Given the description of an element on the screen output the (x, y) to click on. 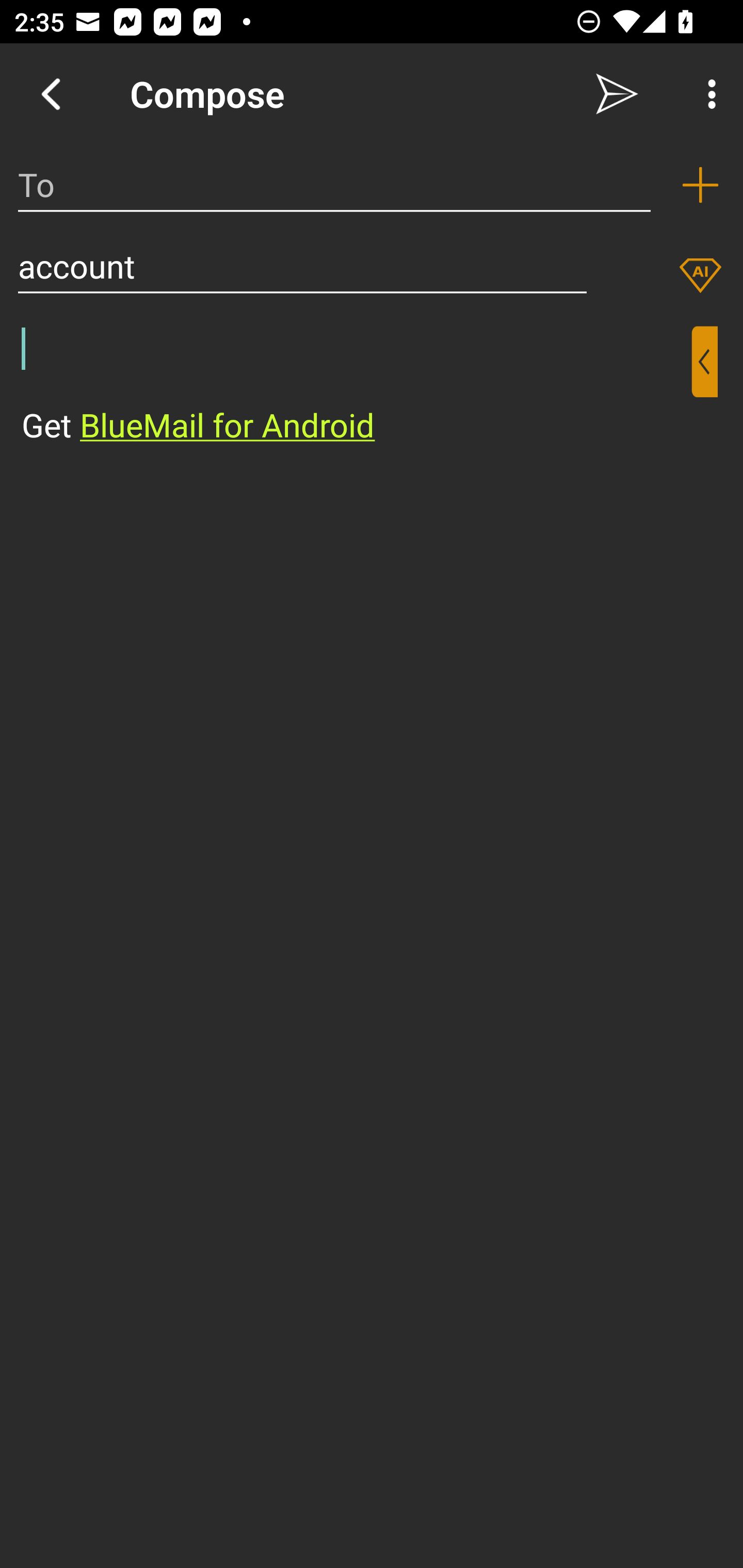
Navigate up (50, 93)
Send (616, 93)
More Options (706, 93)
To (334, 184)
Add recipient (To) (699, 184)
account (302, 266)


⁣Get BlueMail for Android ​ (355, 386)
